Given the description of an element on the screen output the (x, y) to click on. 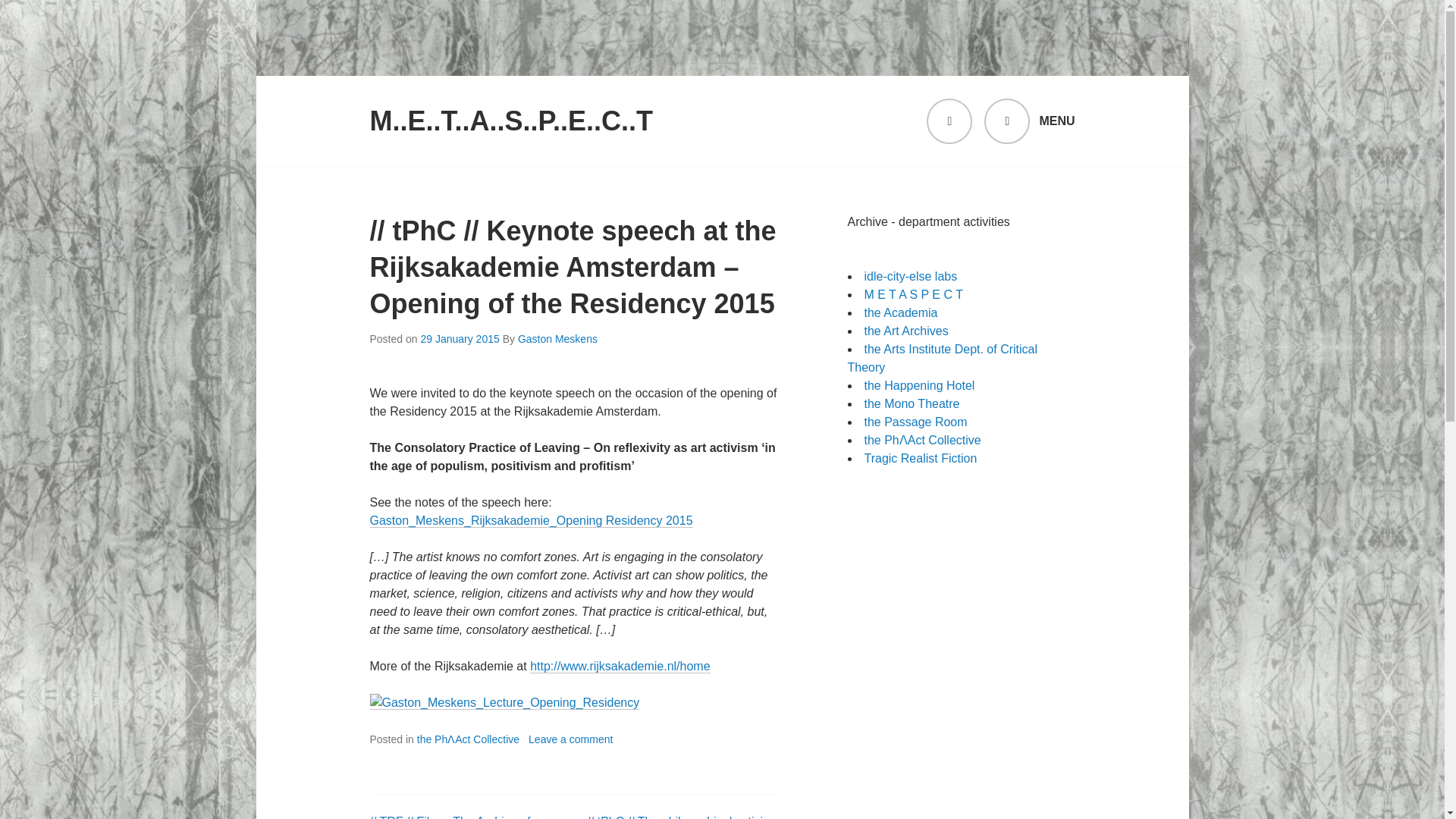
the Mono Theatre (911, 403)
M..E..T..A..S..P..E..C..T (510, 121)
the Art Archives (906, 330)
the Happening Hotel (919, 385)
MENU (1029, 121)
Tragic Realist Fiction (920, 458)
SEARCH (949, 121)
the Passage Room (916, 421)
idle-city-else labs (911, 276)
Gaston Meskens (557, 338)
